Given the description of an element on the screen output the (x, y) to click on. 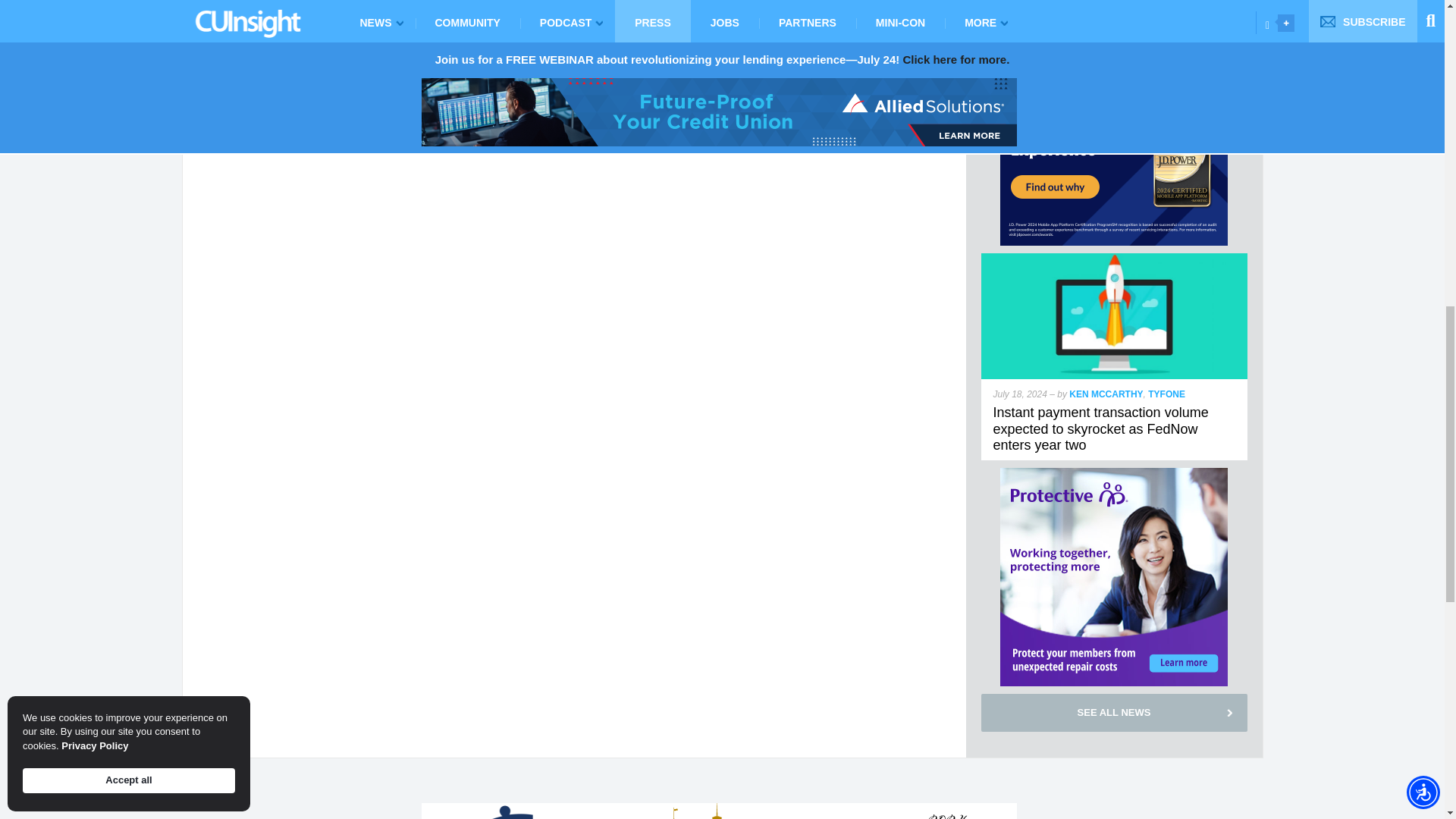
Vision casting: Mid-year insights for credit union leaders (1100, 6)
